Given the description of an element on the screen output the (x, y) to click on. 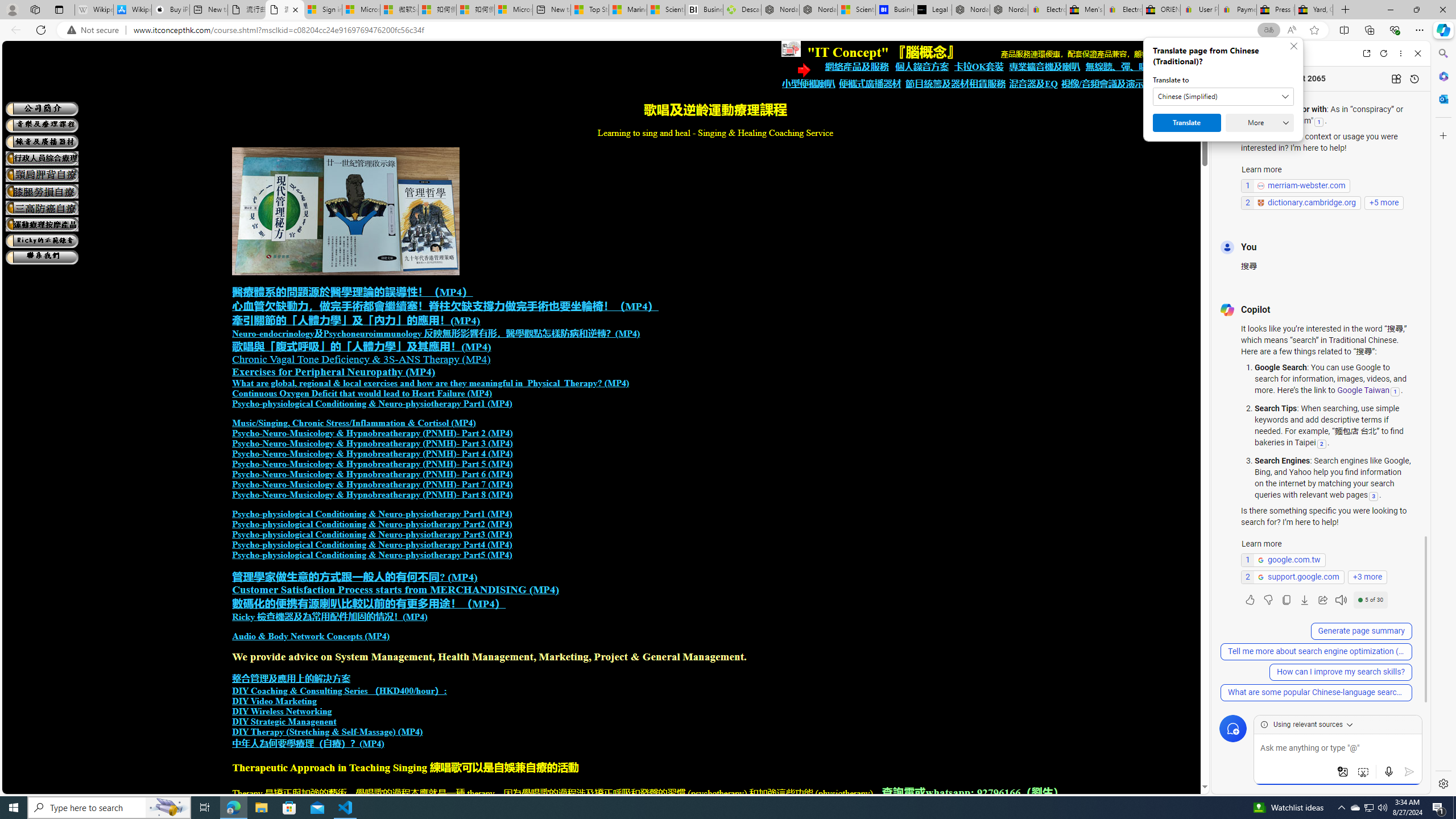
Chronic Vagal Tone Deficiency & 3S-ANS Therapy (MP4) (360, 359)
